Given the description of an element on the screen output the (x, y) to click on. 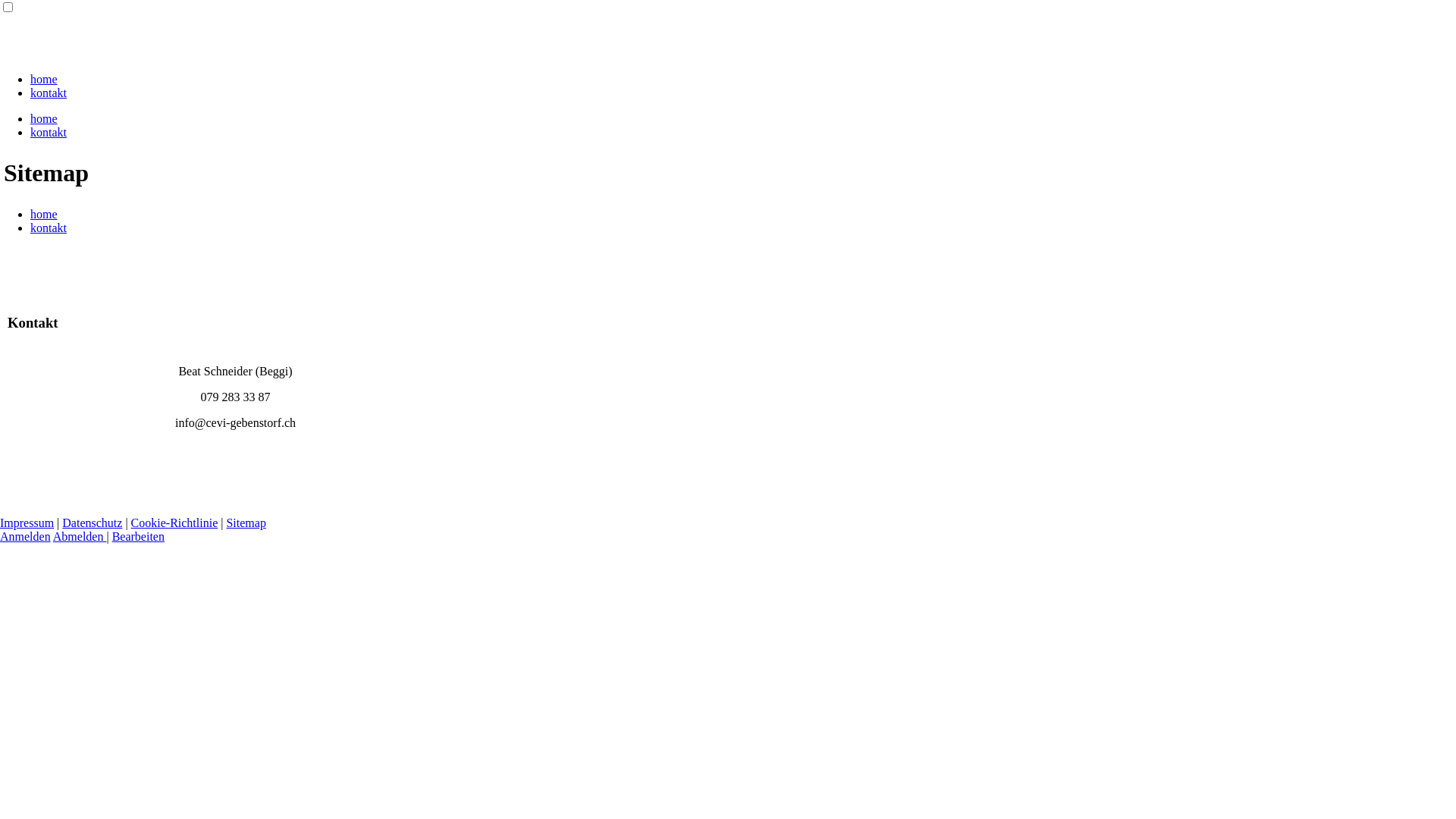
Datenschutz Element type: text (92, 522)
home Element type: text (43, 78)
kontakt Element type: text (48, 227)
Impressum Element type: text (26, 522)
home Element type: text (43, 213)
Cookie-Richtlinie Element type: text (174, 522)
Abmelden Element type: text (79, 536)
Anmelden Element type: text (25, 536)
Bearbeiten Element type: text (138, 536)
kontakt Element type: text (48, 92)
home Element type: text (43, 118)
kontakt Element type: text (48, 131)
Sitemap Element type: text (245, 522)
